Given the description of an element on the screen output the (x, y) to click on. 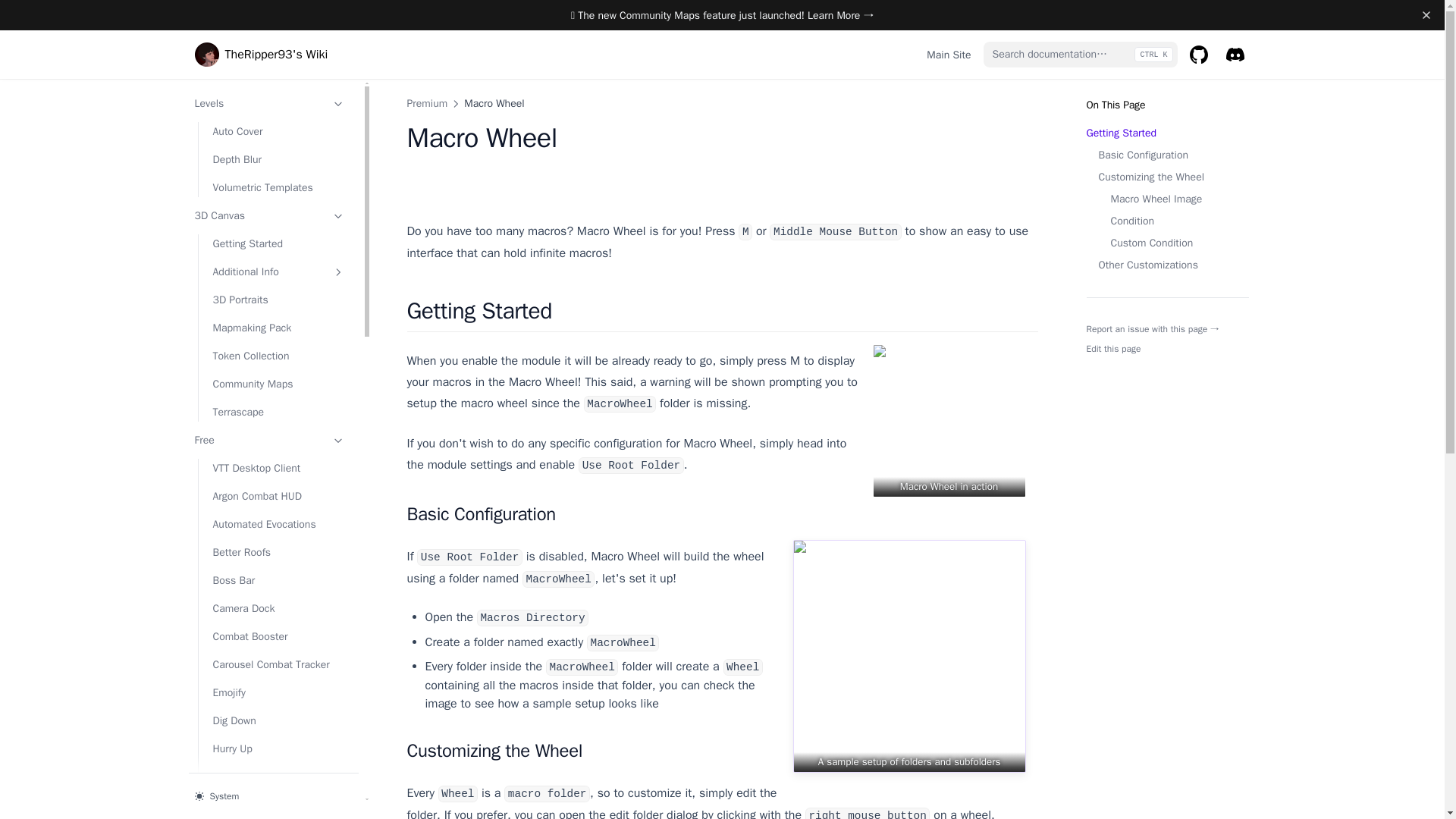
Other Customizations (1166, 264)
Free (268, 439)
Condition (1166, 220)
Boss Bar (278, 580)
Basic Configuration (1166, 154)
Additional Info (278, 271)
Auto Cover (278, 131)
3D Portraits (278, 299)
3D Canvas (268, 215)
Terrascape (278, 412)
Change theme (272, 795)
VTT Desktop Client (278, 467)
Volumetric Templates (278, 187)
Mapmaking Pack (278, 327)
Getting Started (278, 243)
